Given the description of an element on the screen output the (x, y) to click on. 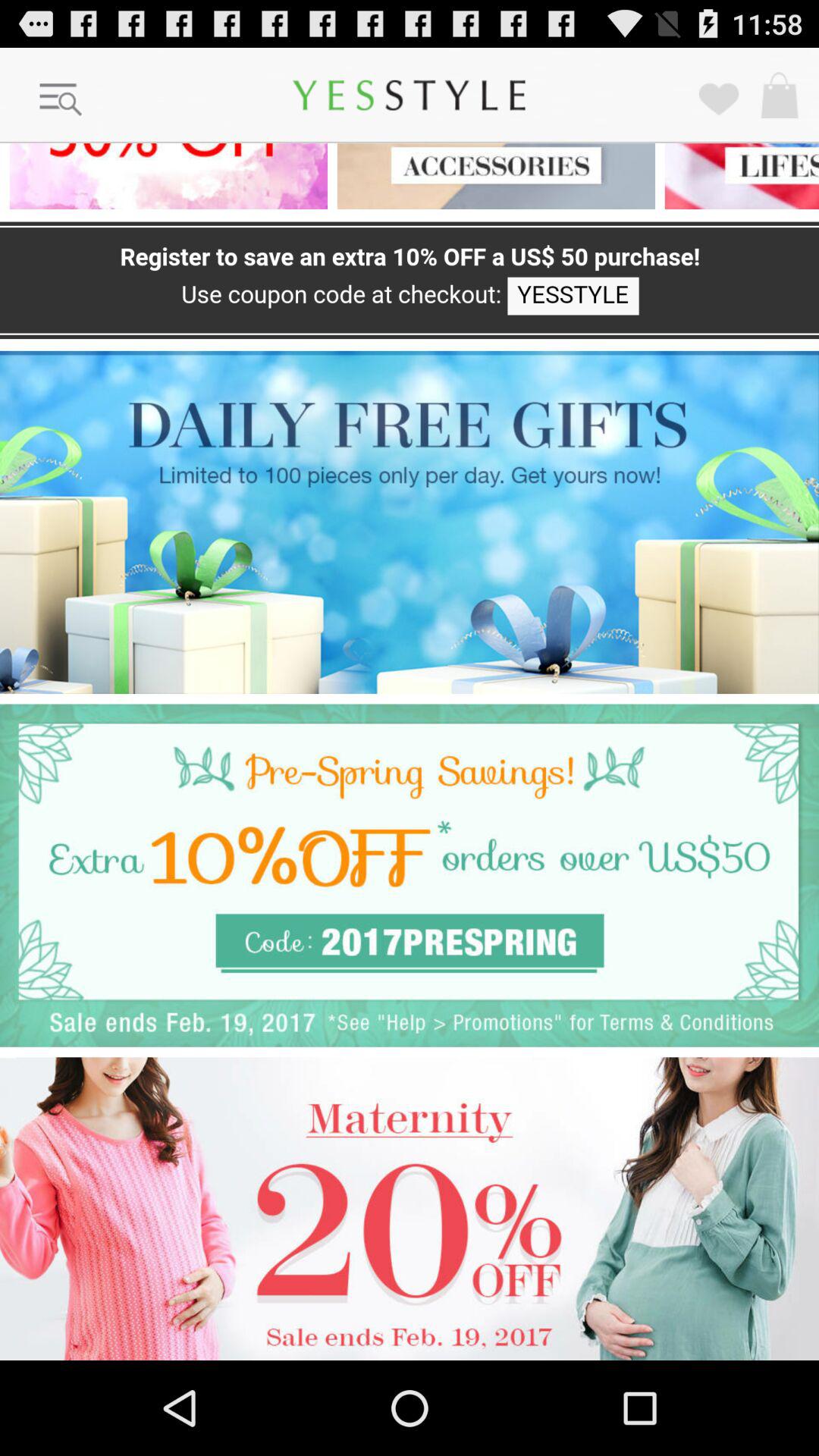
daily free gifts (409, 521)
